Given the description of an element on the screen output the (x, y) to click on. 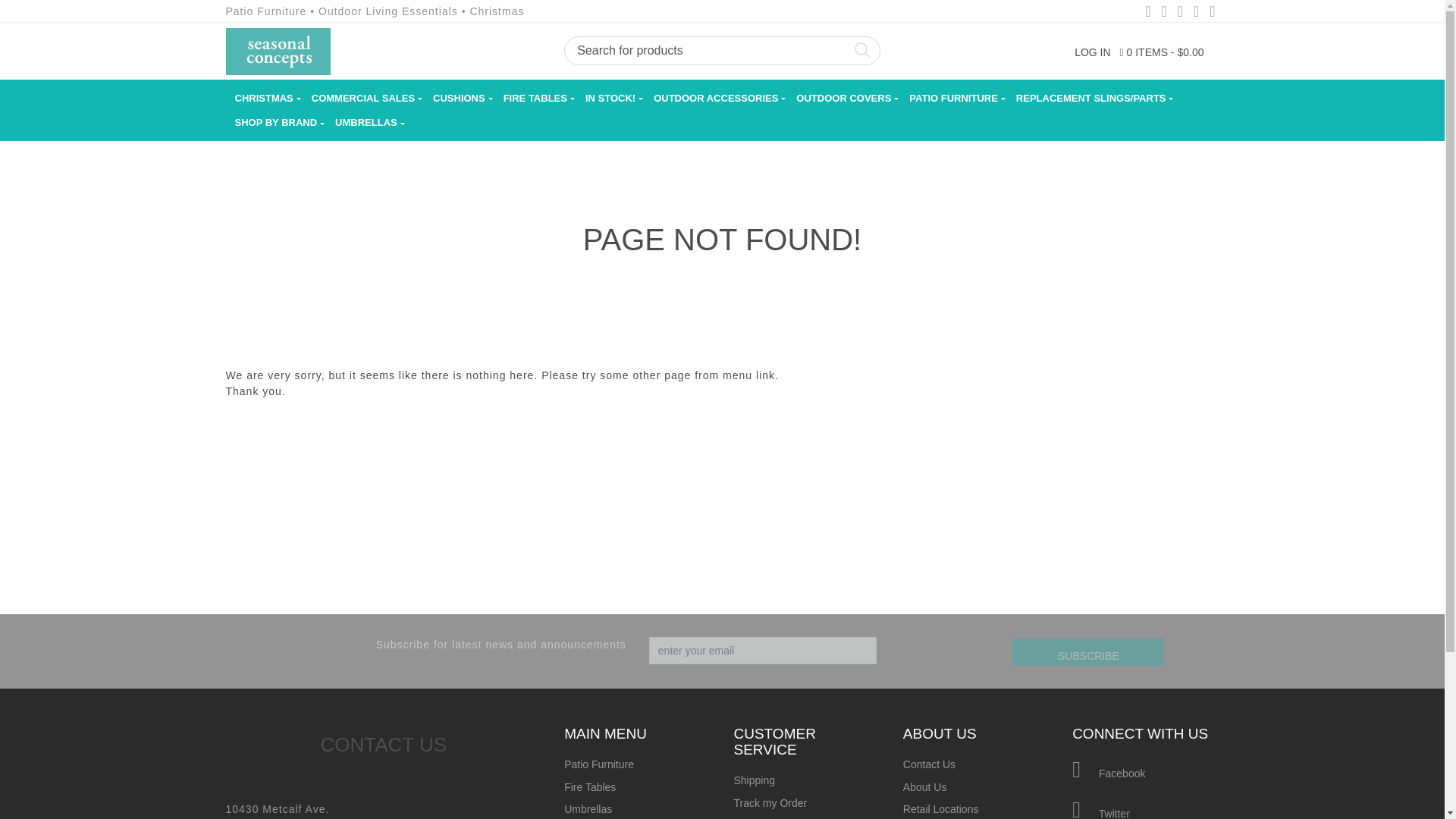
Pinterest (1179, 12)
Houzz (1211, 12)
CHRISTMAS (263, 97)
Twitter (1163, 12)
COMMERCIAL SALES (362, 97)
Instagram (1195, 12)
LOG IN (1091, 52)
Facebook (1147, 12)
subscribe (1087, 651)
Start shopping (1161, 52)
